Given the description of an element on the screen output the (x, y) to click on. 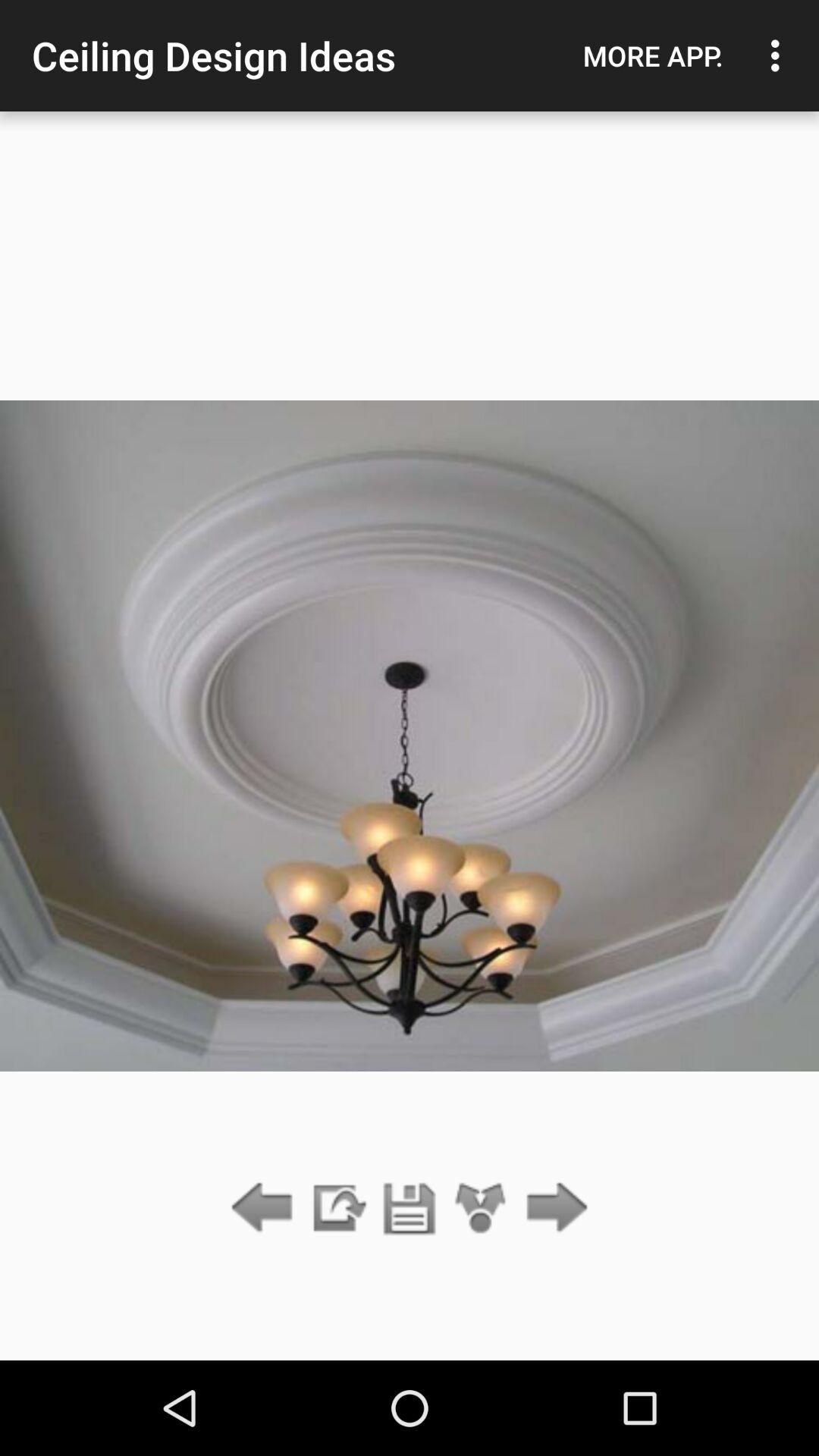
turn off more app. item (653, 55)
